Given the description of an element on the screen output the (x, y) to click on. 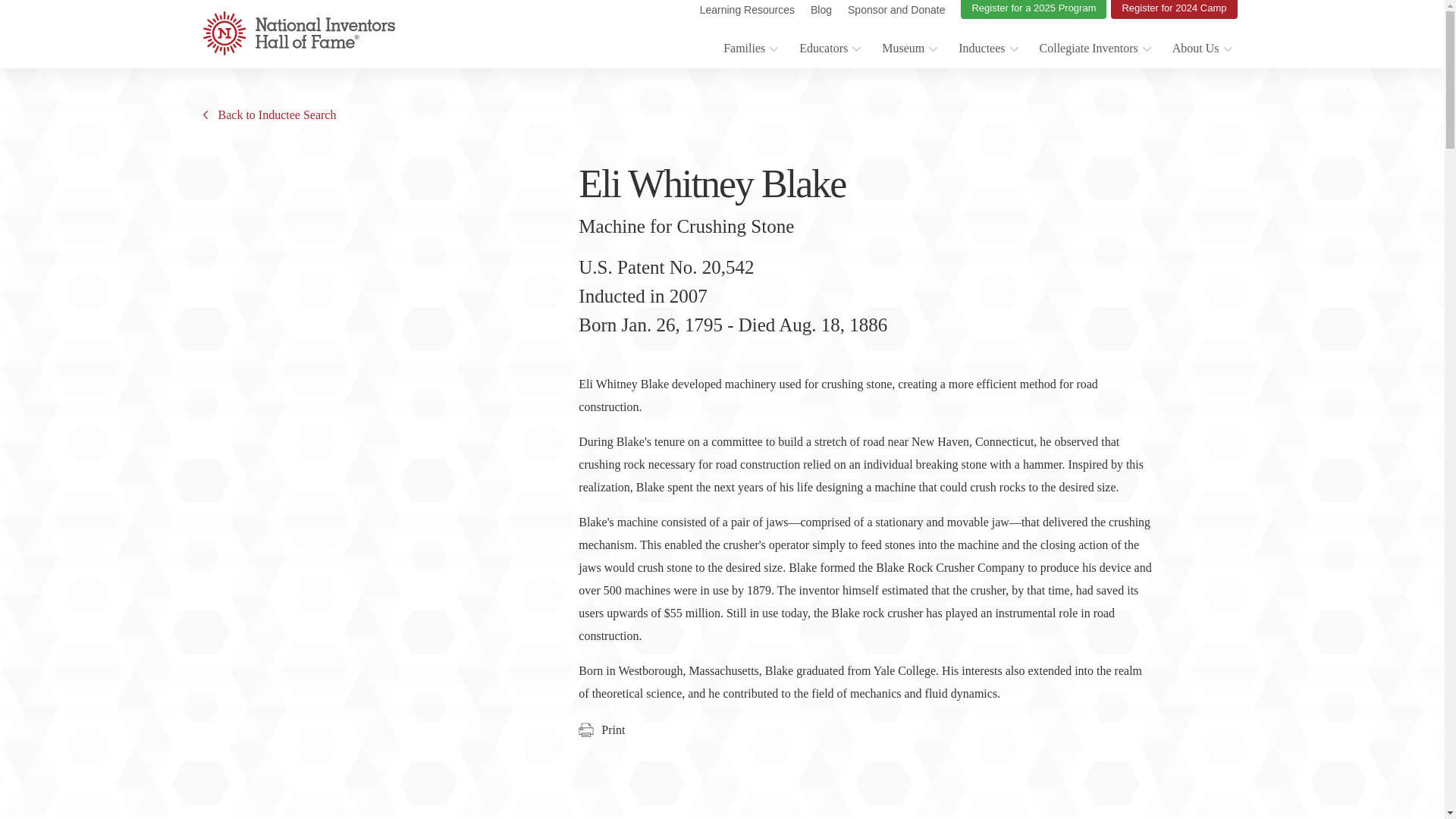
About Us (1201, 49)
National Inventors Hall of Fame (298, 33)
Inductees (987, 49)
Collegiate Inventors (1094, 49)
Museum (909, 49)
Educators (829, 49)
Families (749, 49)
